Given the description of an element on the screen output the (x, y) to click on. 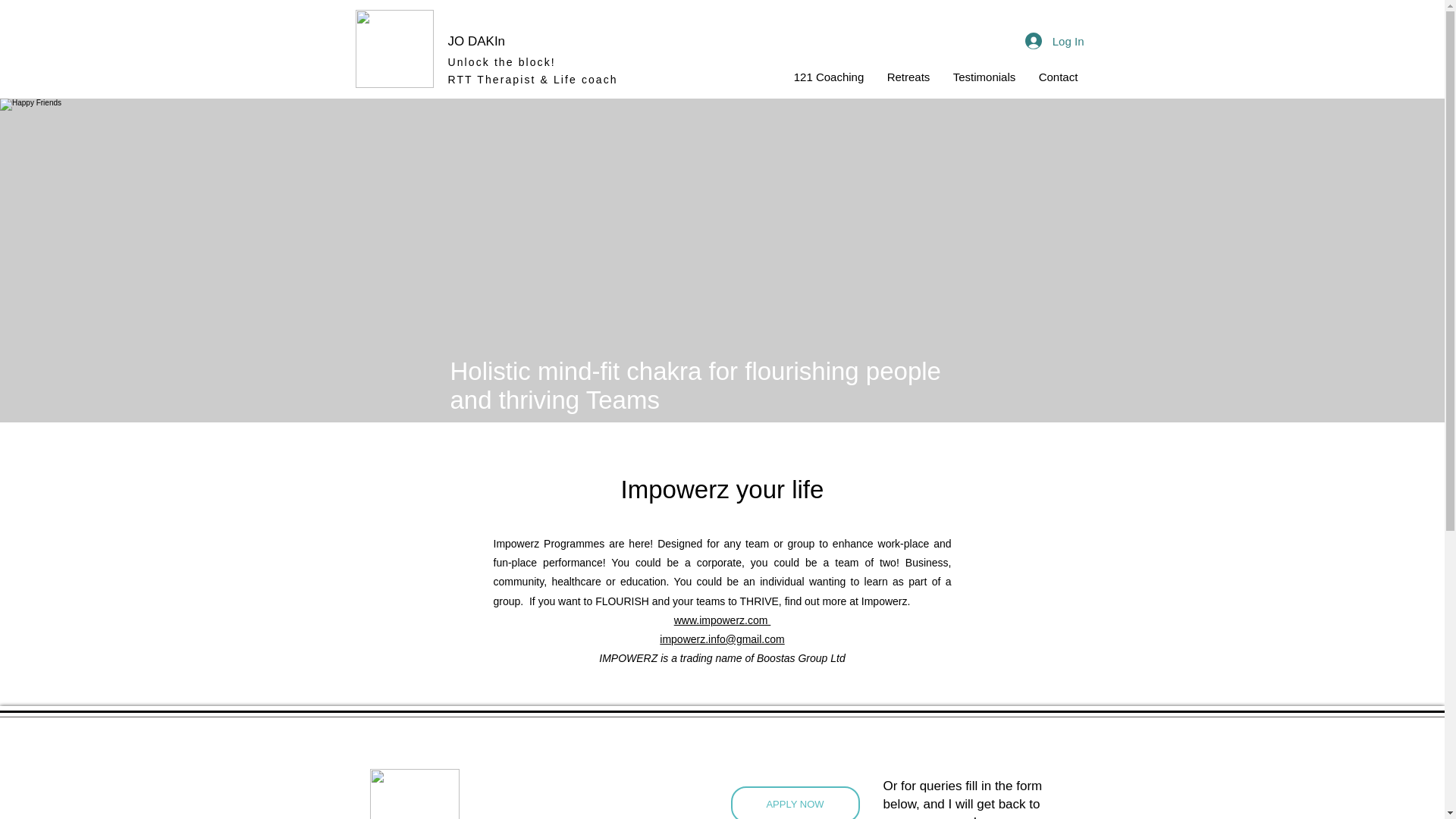
JO DAKIn (475, 41)
APPLY NOW (795, 802)
Retreats (907, 76)
Log In (1054, 40)
Logo12021.png (393, 48)
Contact (1057, 76)
121 Coaching (829, 76)
Unlock the block! (500, 61)
Testimonials (984, 76)
Logo12021.png (414, 794)
www.impowerz.com  (722, 620)
